Given the description of an element on the screen output the (x, y) to click on. 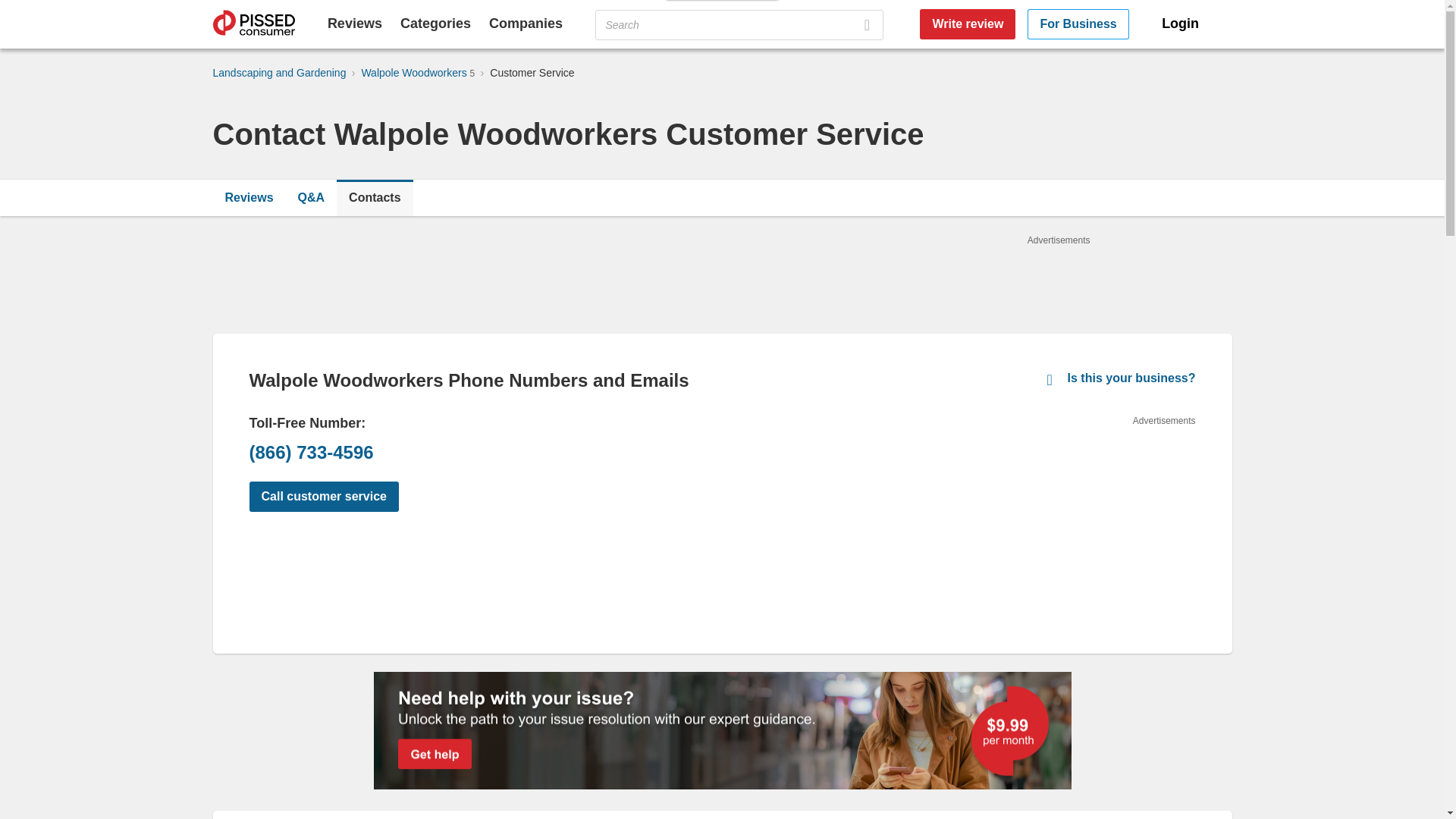
Walpole Woodworkers reviews (248, 197)
Write review (967, 24)
Companies (525, 23)
Reviews (248, 197)
Categories (435, 23)
Contacts (374, 197)
Reviews (354, 23)
Landscaping and Gardening (279, 72)
Walpole Woodworkers (414, 72)
For Business (1077, 24)
